Given the description of an element on the screen output the (x, y) to click on. 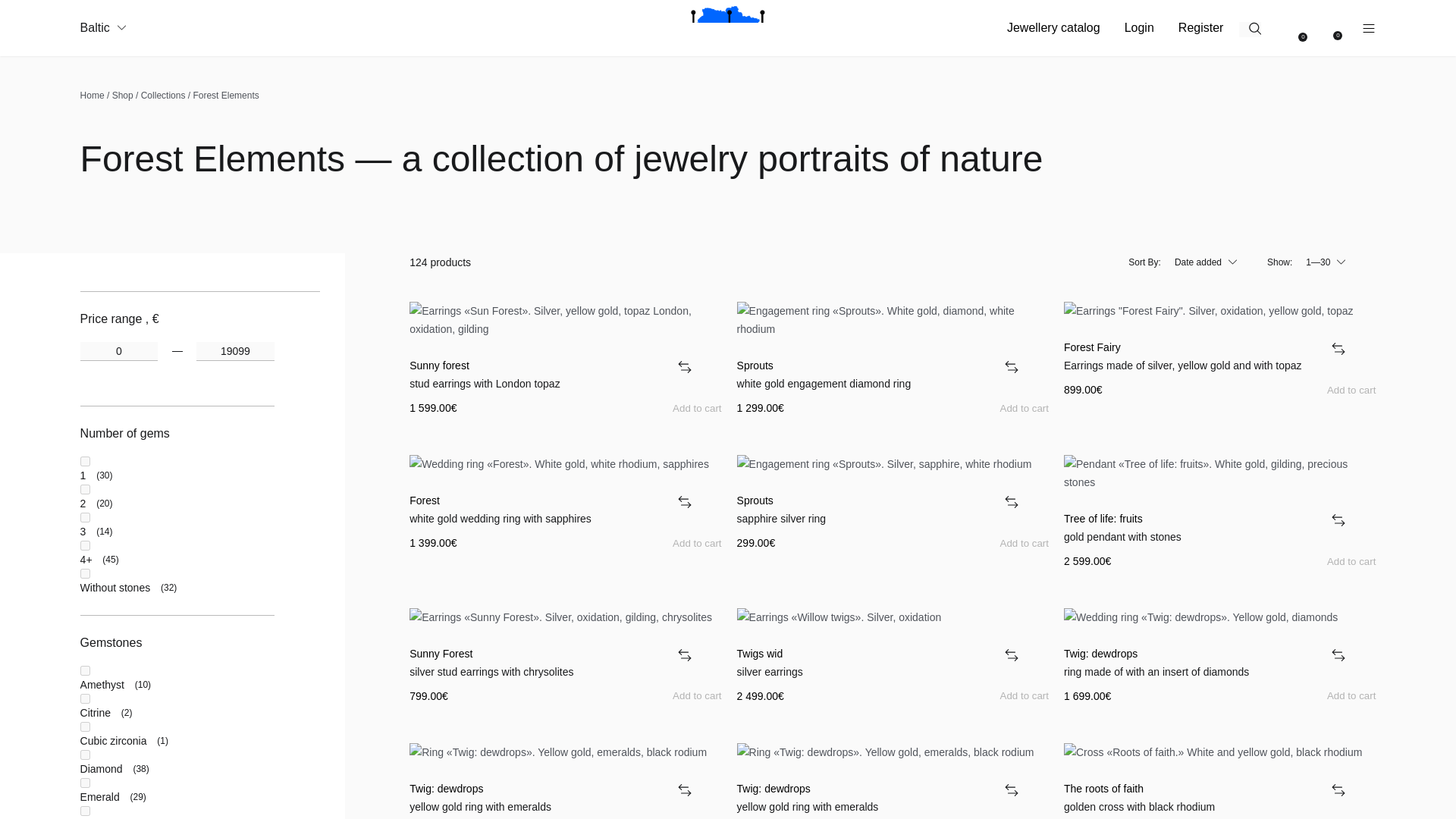
0 (118, 351)
19099 (234, 351)
